Given the description of an element on the screen output the (x, y) to click on. 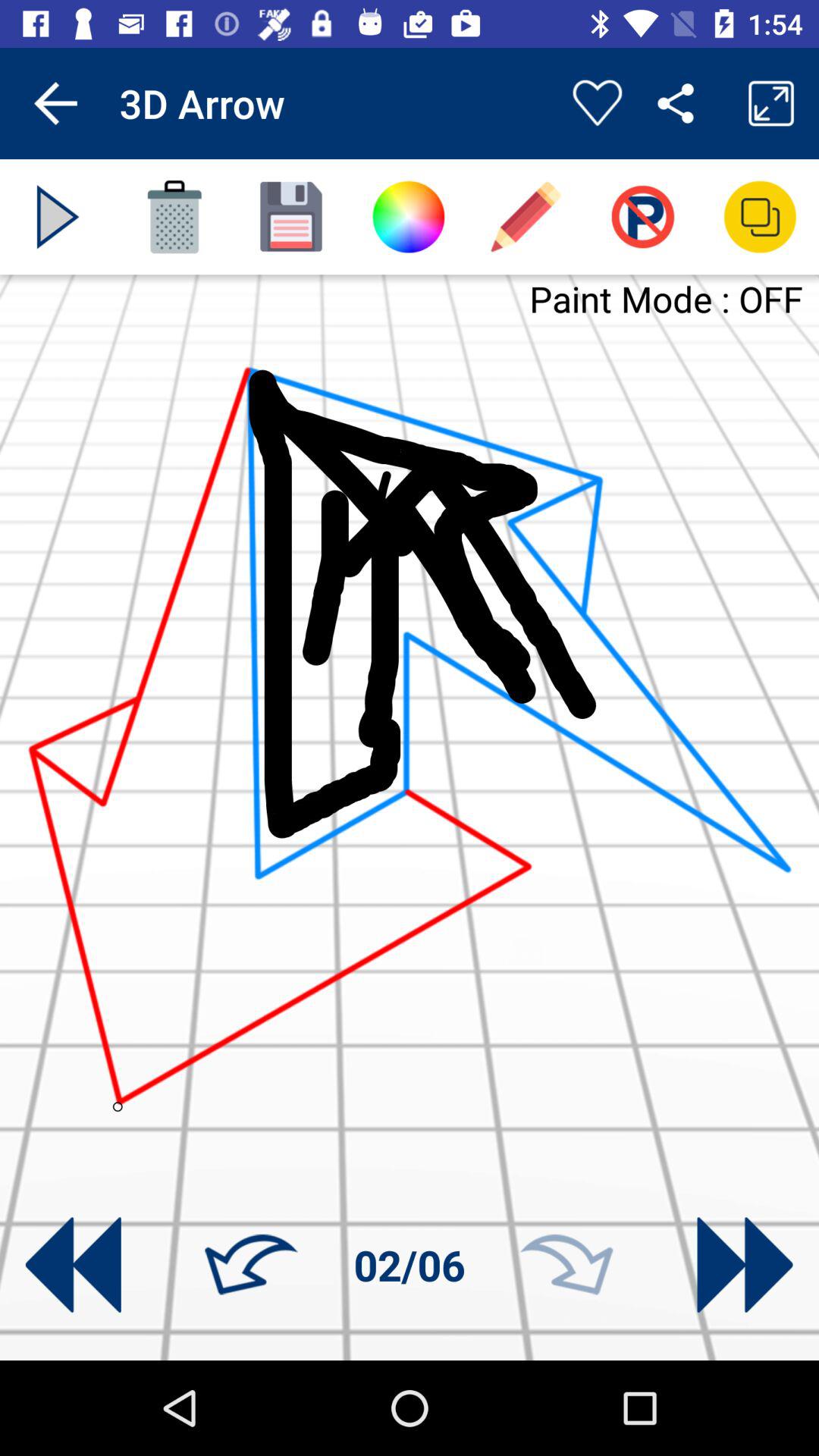
go back (251, 1264)
